Given the description of an element on the screen output the (x, y) to click on. 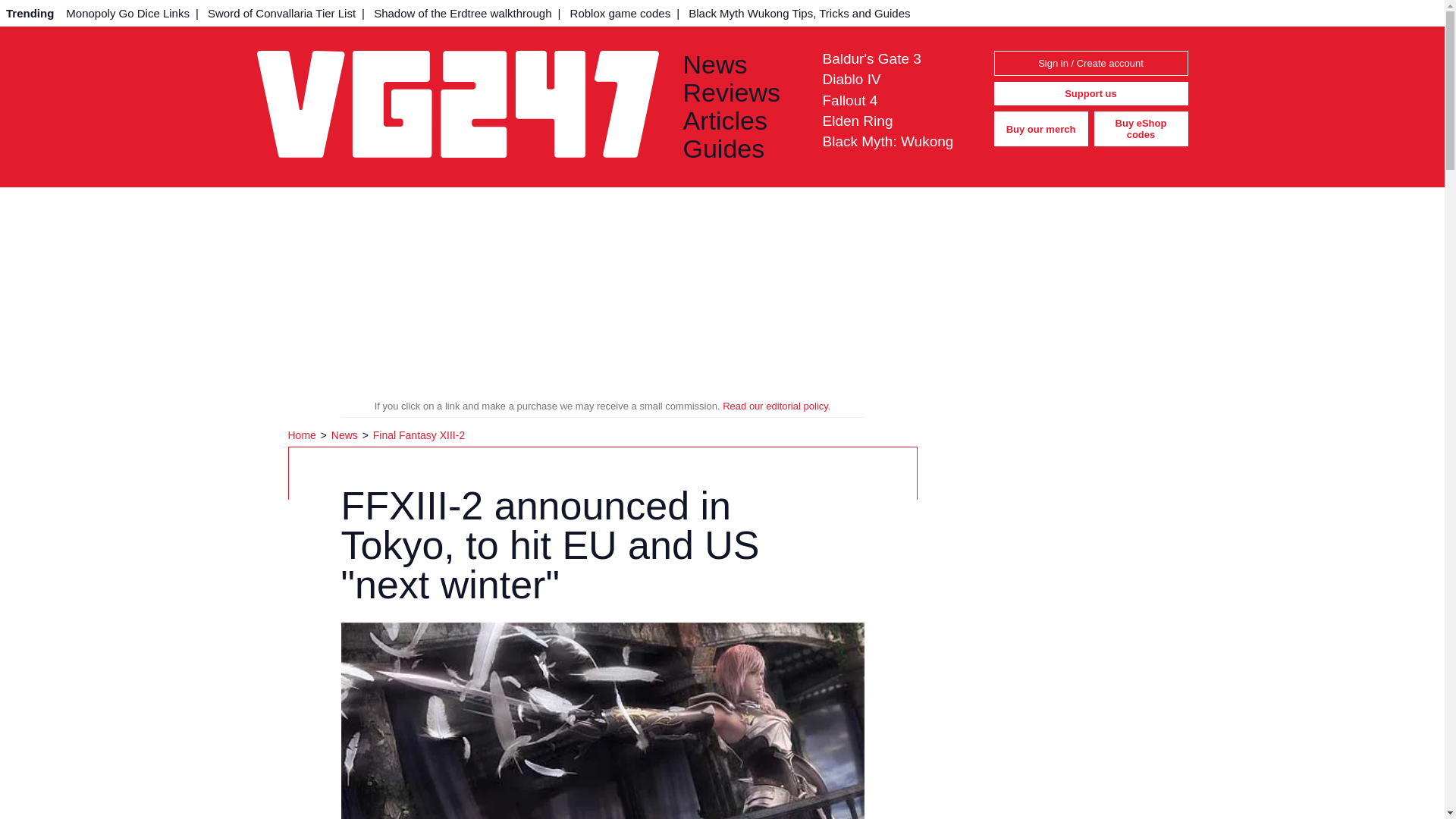
Diablo IV (851, 78)
Support us (1090, 93)
Shadow of the Erdtree walkthrough (462, 13)
Buy our merch (1039, 128)
Fallout 4 (849, 100)
Home (303, 435)
Reviews (739, 92)
News (739, 64)
Buy eShop codes (1140, 128)
Home (303, 435)
